Given the description of an element on the screen output the (x, y) to click on. 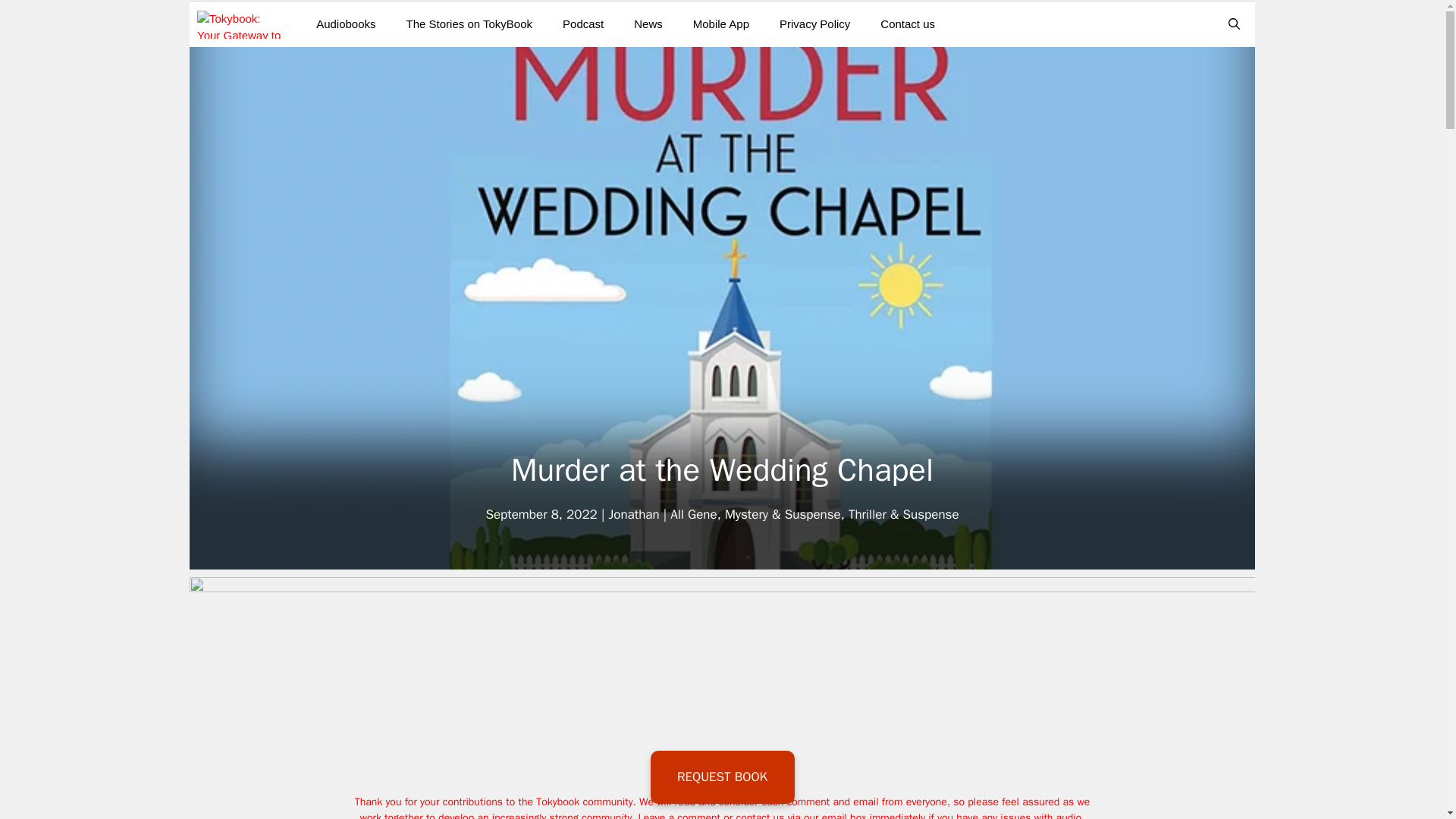
All Gene (692, 514)
Tokybook: Your Gateway to Freemium Audiobooks (245, 24)
Jonathan (633, 514)
Tokybook: Your Gateway to Freemium Audiobooks (240, 24)
Podcast (582, 23)
The Stories on TokyBook (469, 23)
News (648, 23)
Audiobooks (345, 23)
Mobile App (721, 23)
Privacy Policy (814, 23)
Contact us (907, 23)
View all posts by Jonathan (633, 514)
